Given the description of an element on the screen output the (x, y) to click on. 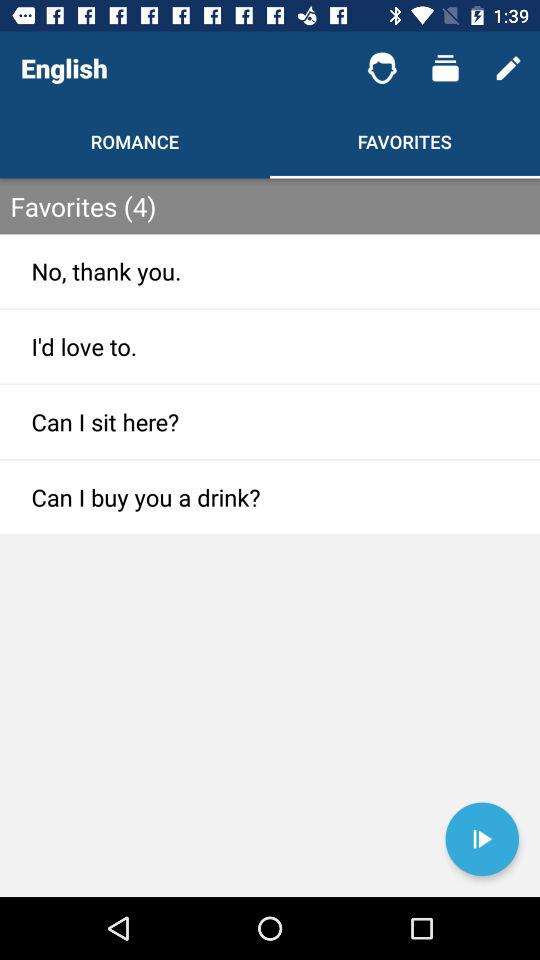
play audio (482, 839)
